Given the description of an element on the screen output the (x, y) to click on. 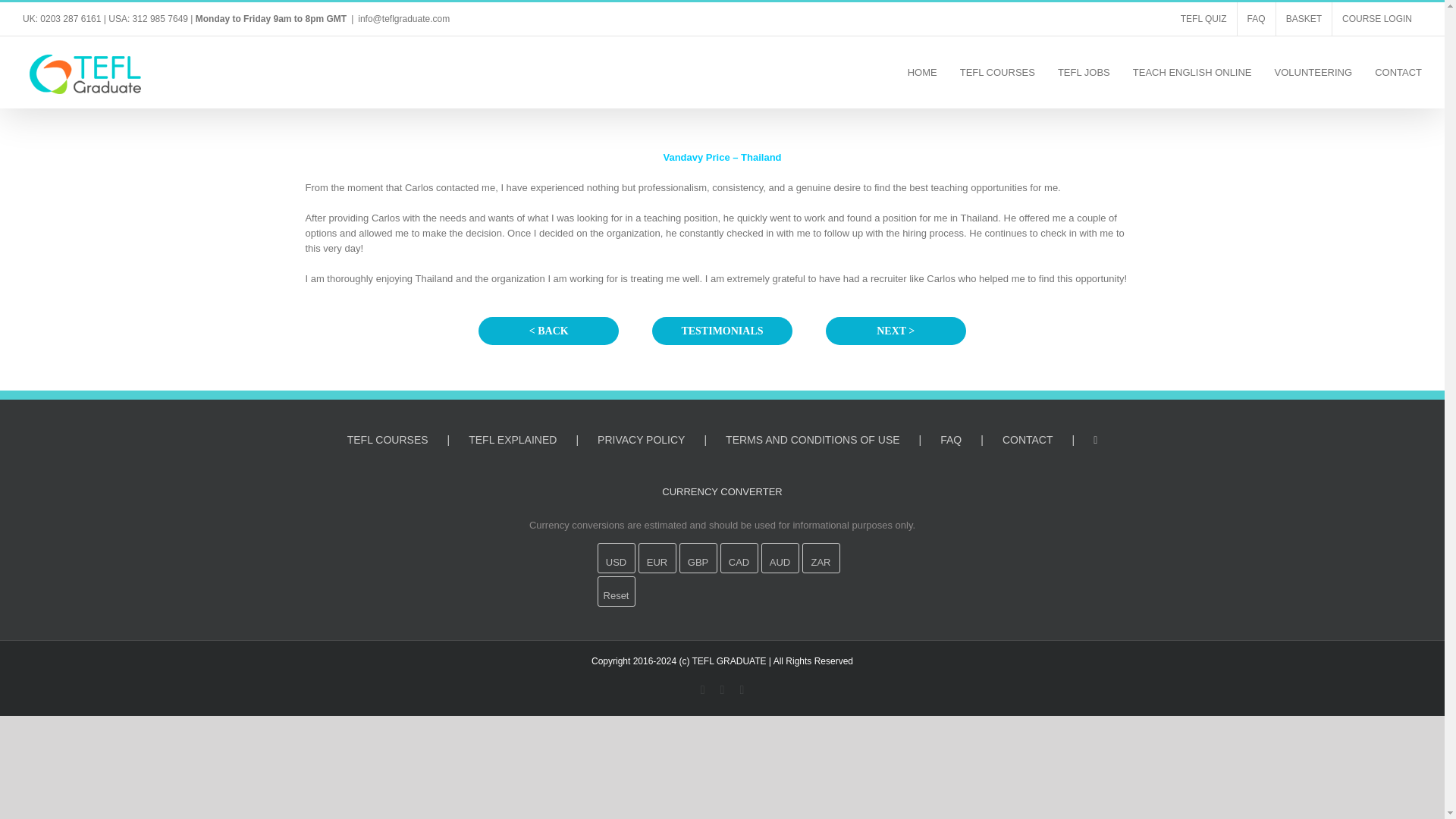
BASKET (1304, 19)
TESTIMONIALS (722, 330)
USD (615, 557)
TEFL EXPLAINED (532, 440)
312 985 7649 (159, 18)
PRIVACY POLICY (660, 440)
TEFL COURSES (997, 72)
CONTACT (1048, 440)
TERMS AND CONDITIONS OF USE (832, 440)
TEACH ENGLISH ONLINE (1192, 72)
